Given the description of an element on the screen output the (x, y) to click on. 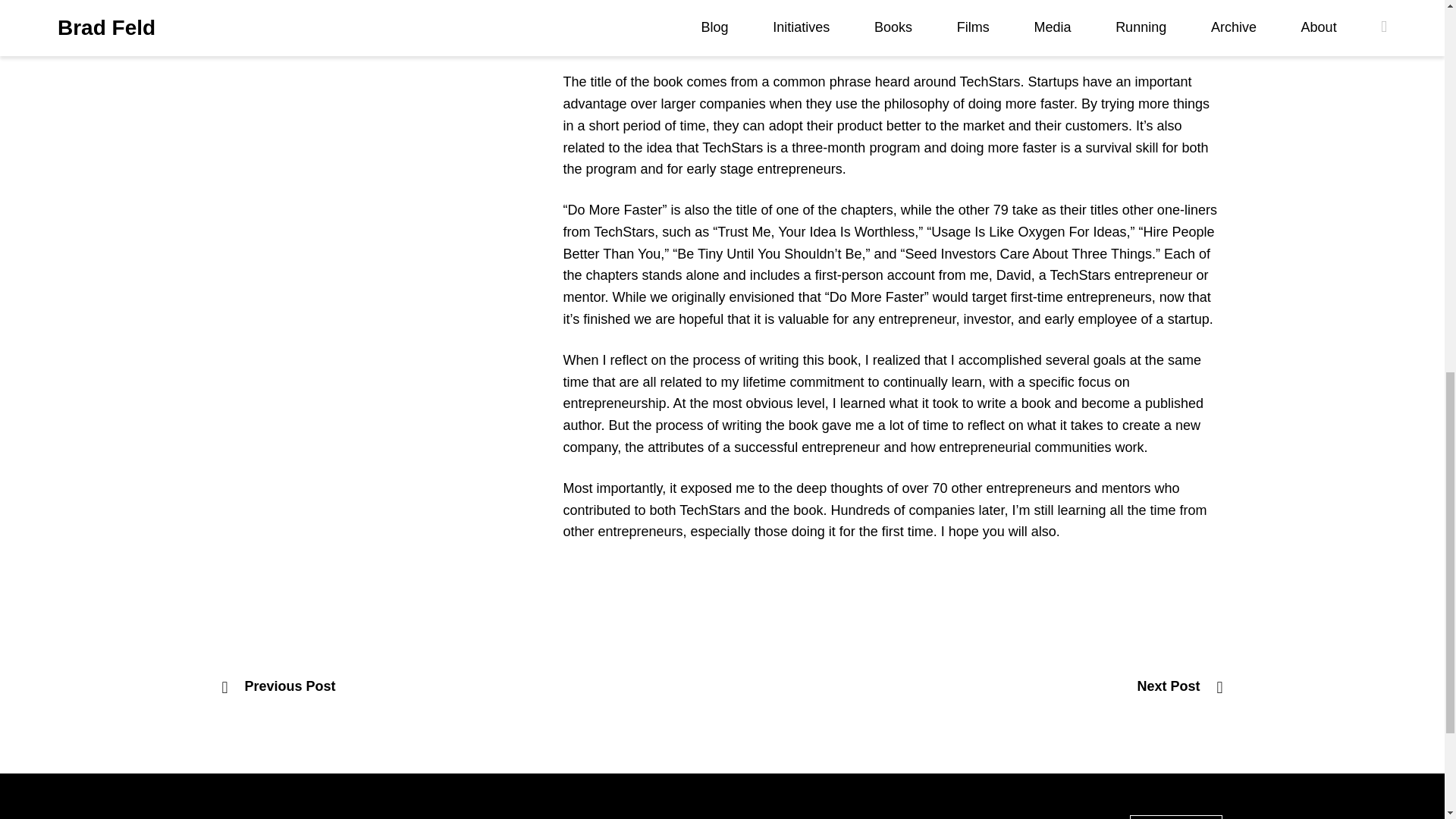
Next Post (1180, 686)
Subscribe (1176, 816)
Previous Post (277, 686)
